Given the description of an element on the screen output the (x, y) to click on. 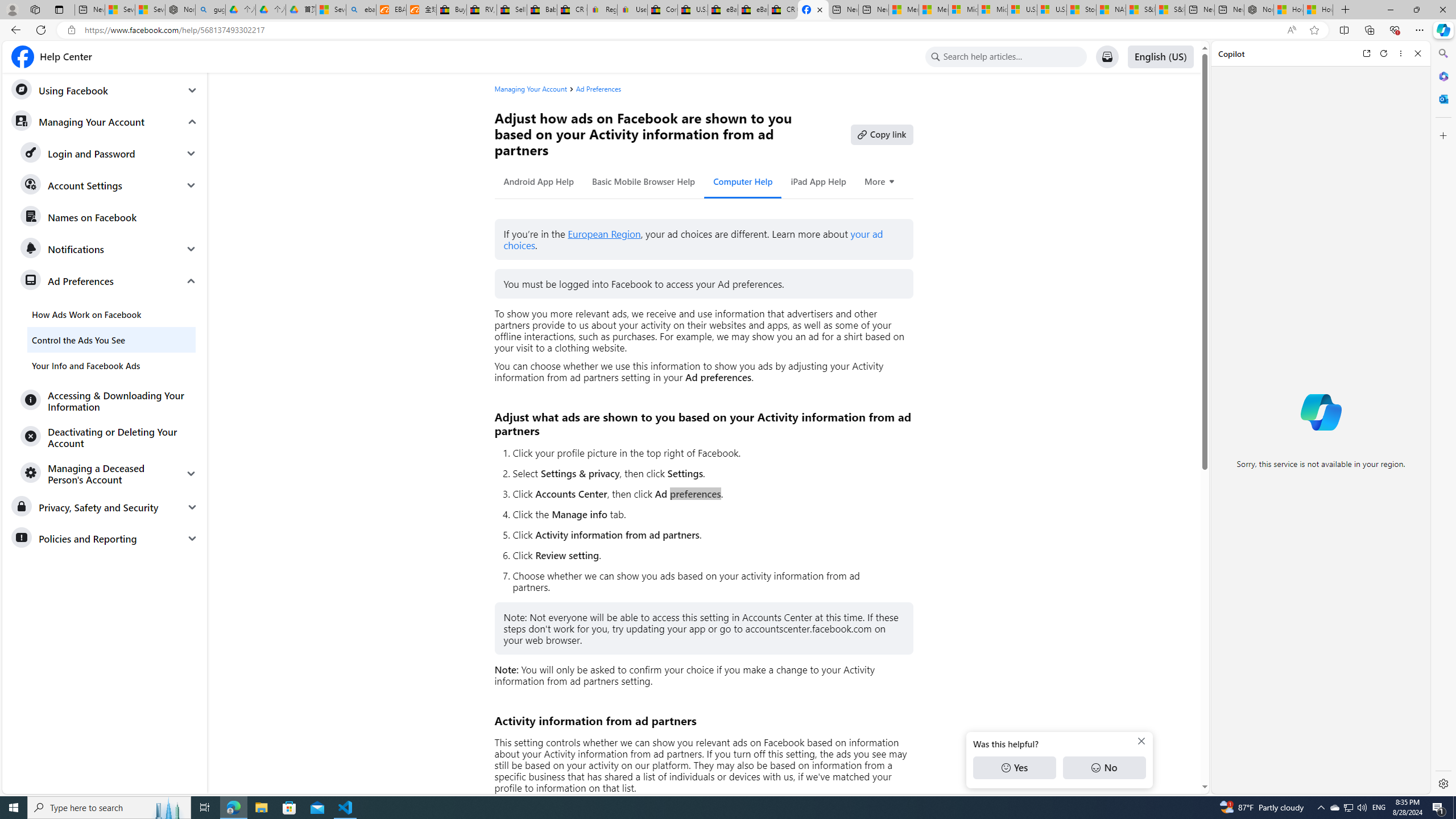
Ad Preferences (598, 89)
Select Settings & privacy, then click Settings. (707, 473)
Privacy, Safety and Security (104, 506)
Your Info and Facebook Ads (111, 365)
Managing a Deceased Person's Account Expand (109, 473)
More options (1401, 53)
Android App Help (538, 181)
Deactivating or Deleting Your Account (109, 436)
Computer Help (742, 181)
Notifications (108, 249)
Baby Keepsakes & Announcements for sale | eBay (542, 9)
your ad choices (693, 239)
iPad App Help (818, 181)
